Given the description of an element on the screen output the (x, y) to click on. 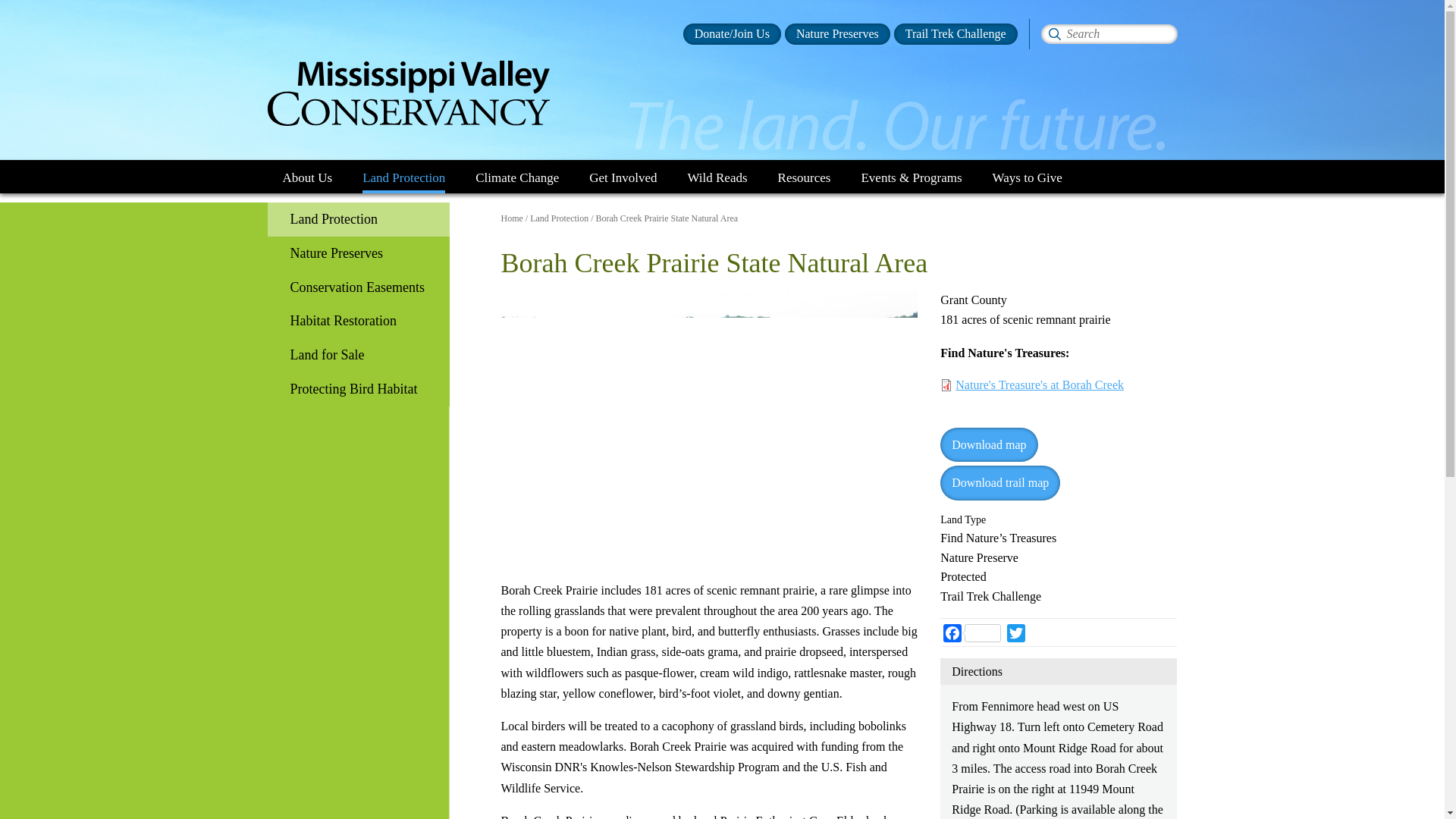
BorahCreekBrochure2019-0424.pdf (999, 483)
Land management practices (357, 320)
Borah Creek Prairie 2017.pdf (988, 444)
Enter the terms you wish to search for. (1108, 34)
